Given the description of an element on the screen output the (x, y) to click on. 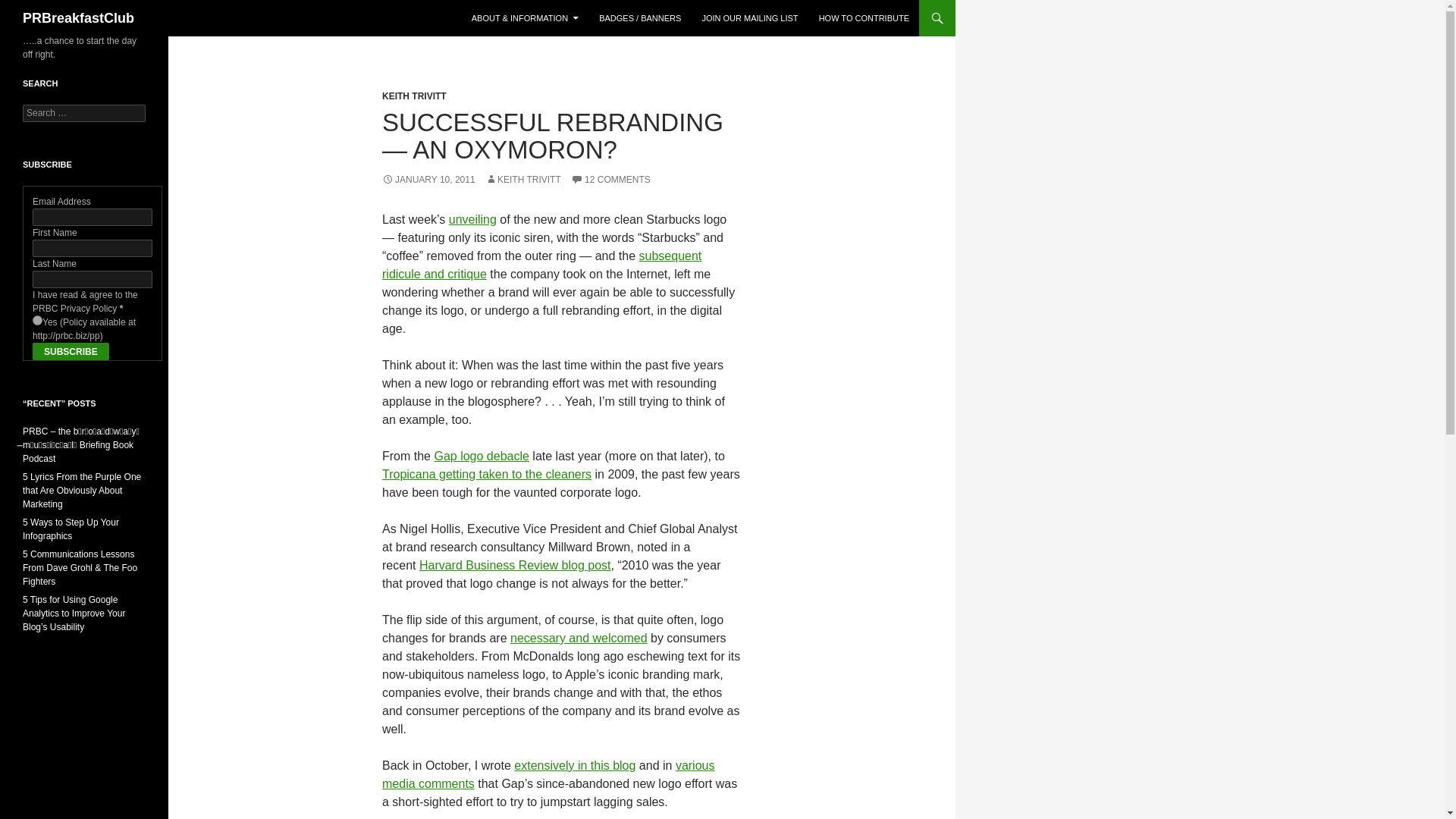
extensively in this blog (573, 765)
JOIN OUR MAILING LIST (749, 18)
Search (30, 8)
subsequent ridicule and critique (541, 264)
12 COMMENTS (610, 179)
Harvard Business Review blog post (515, 564)
Subscribe (70, 351)
KEITH TRIVITT (413, 95)
HOW TO CONTRIBUTE (863, 18)
unveiling (472, 219)
